Given the description of an element on the screen output the (x, y) to click on. 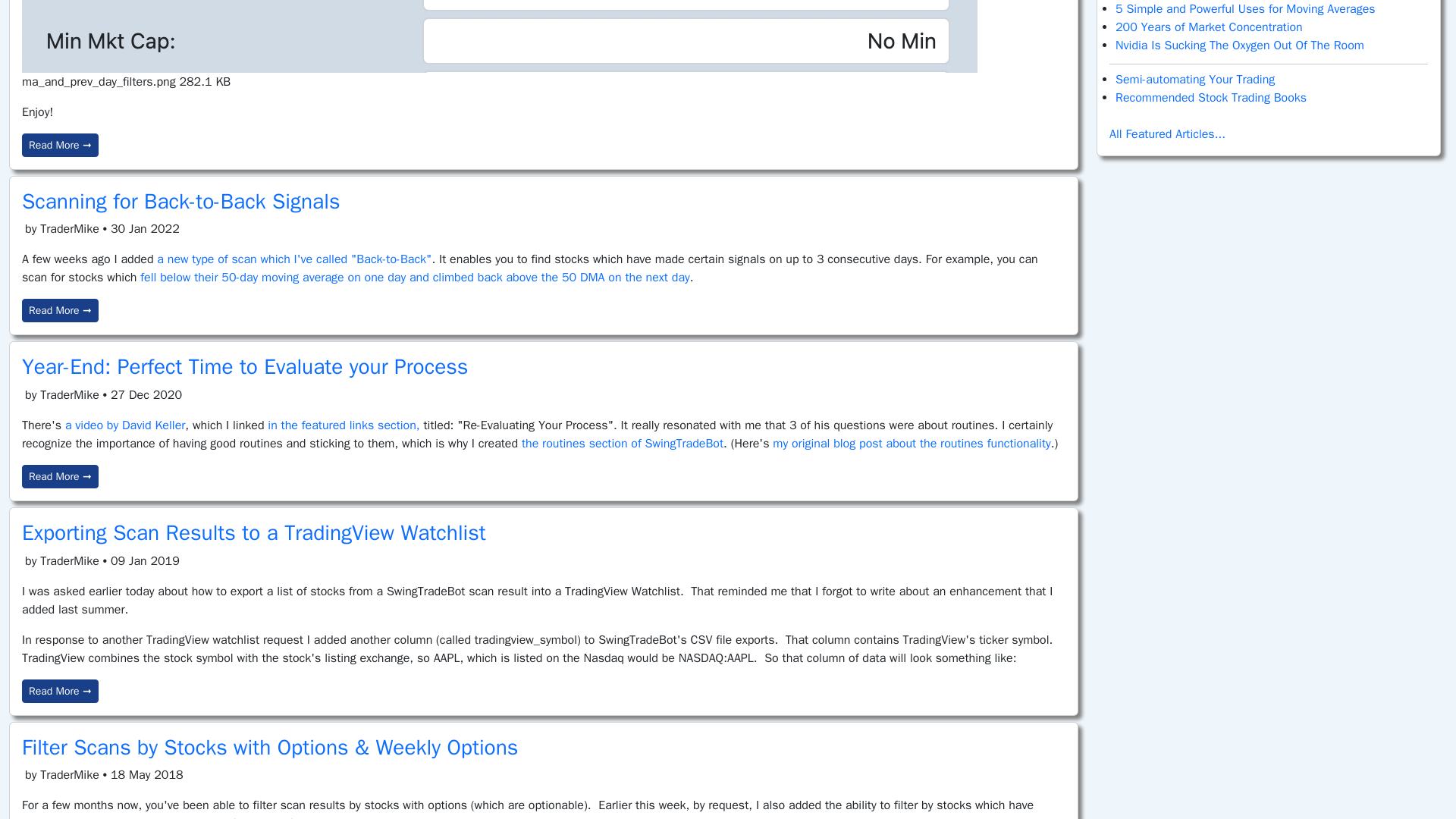
Scanning for Back-to-Back Signals (180, 201)
the routines section of SwingTradeBot (622, 443)
a video by David Keller (124, 425)
a new type of scan which I've called "Back-to-Back" (293, 258)
in the featured links section, (343, 425)
my original blog post about the routines functionality (911, 443)
Year-End: Perfect Time to Evaluate your Process (244, 366)
